Given the description of an element on the screen output the (x, y) to click on. 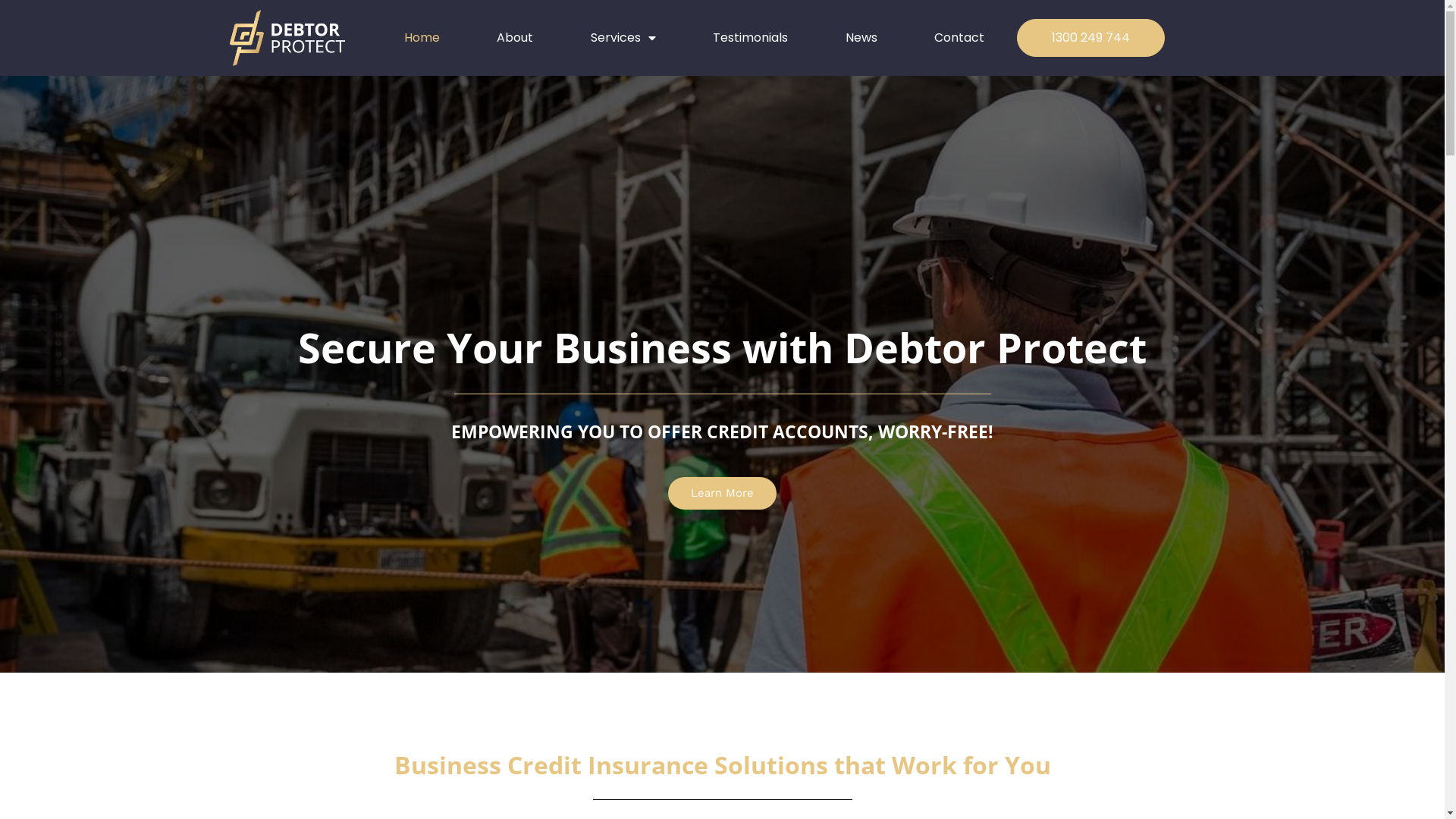
Home Element type: text (421, 37)
Contact Element type: text (958, 37)
Learn More Element type: text (722, 492)
News Element type: text (861, 37)
Services Element type: text (623, 37)
1300 249 744 Element type: text (1090, 37)
Testimonials Element type: text (750, 37)
About Element type: text (514, 37)
